Given the description of an element on the screen output the (x, y) to click on. 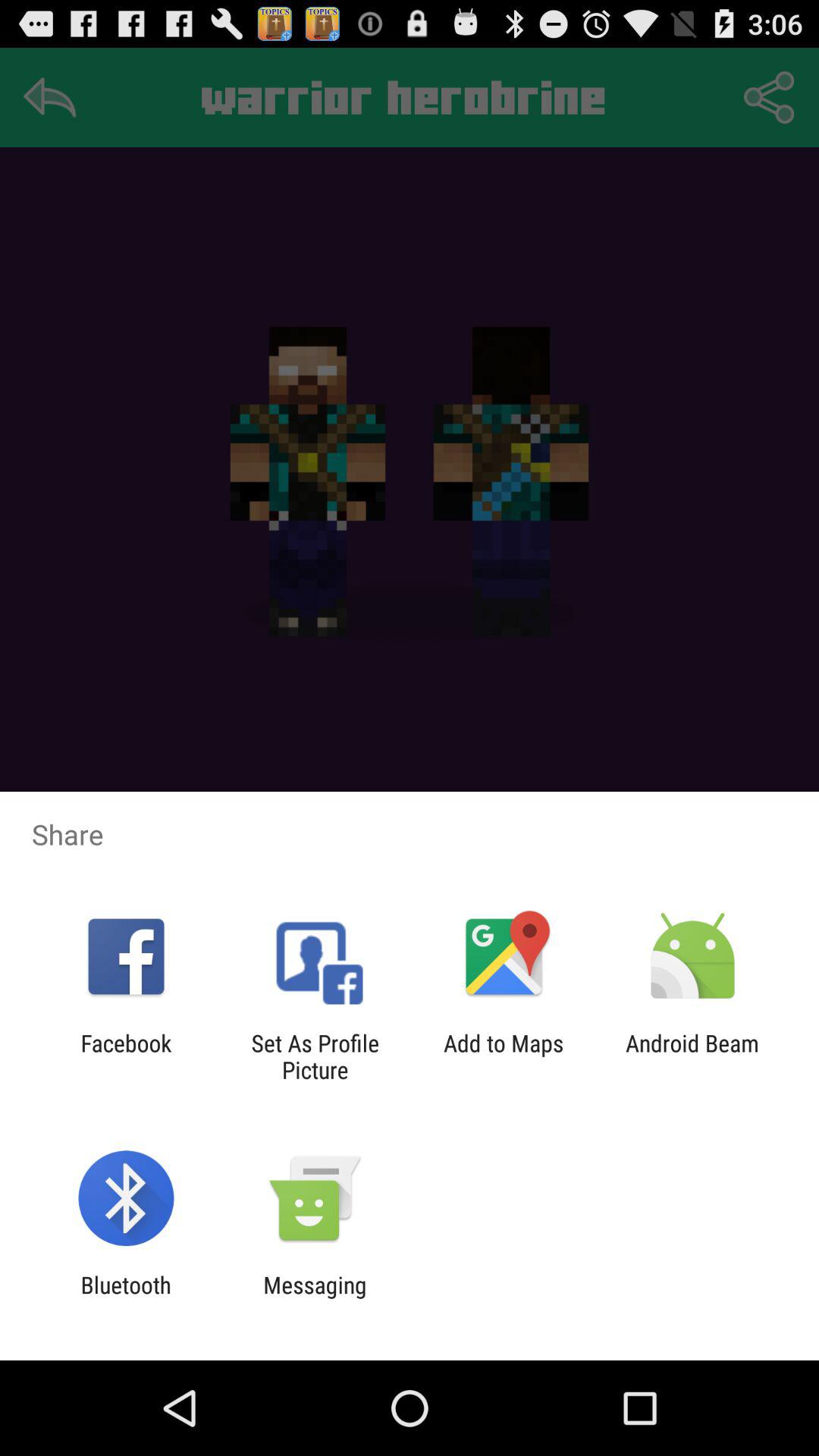
select icon to the left of the android beam item (503, 1056)
